Given the description of an element on the screen output the (x, y) to click on. 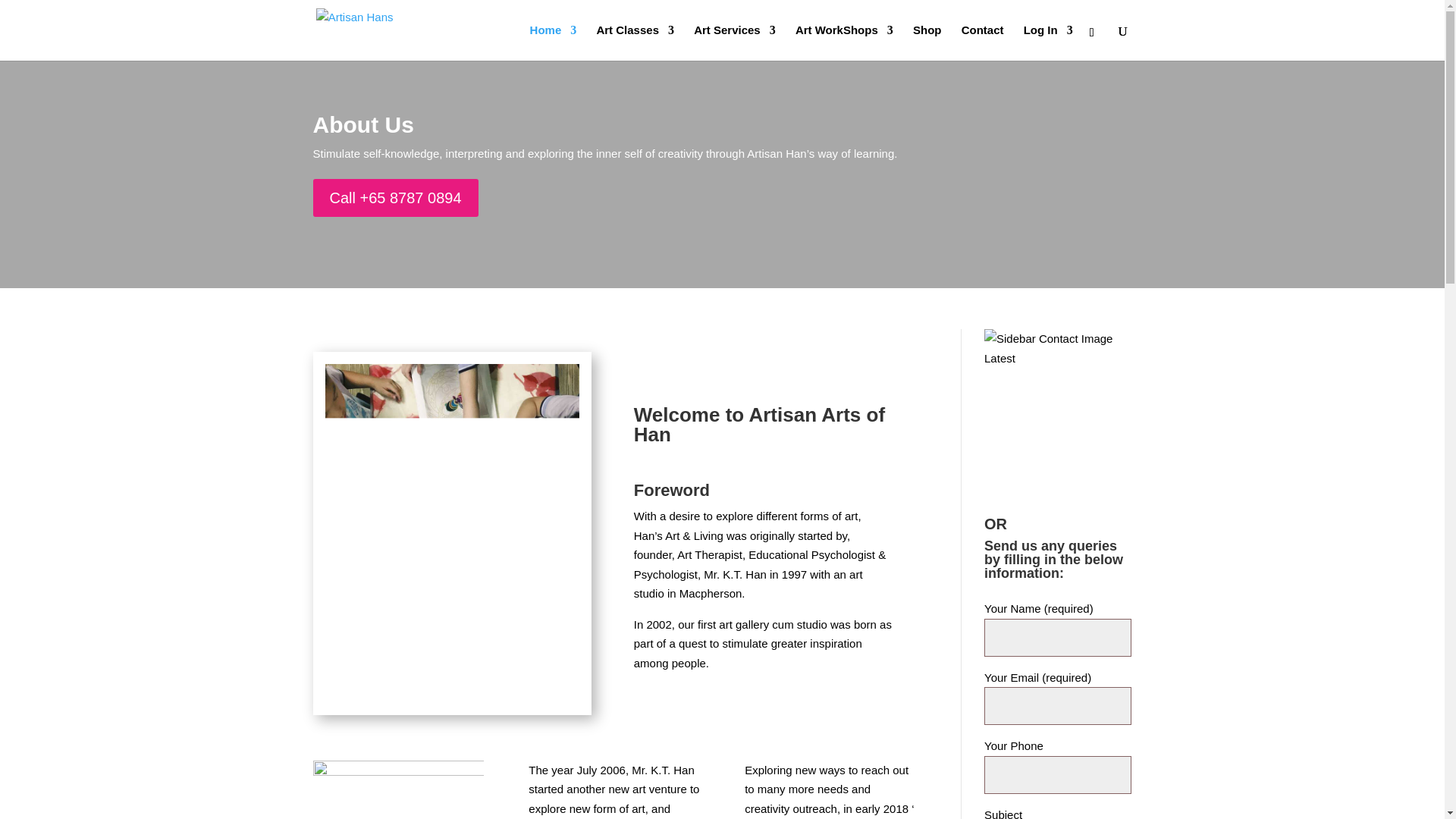
Art Services (735, 42)
Art Classes (634, 42)
Home (552, 42)
